Given the description of an element on the screen output the (x, y) to click on. 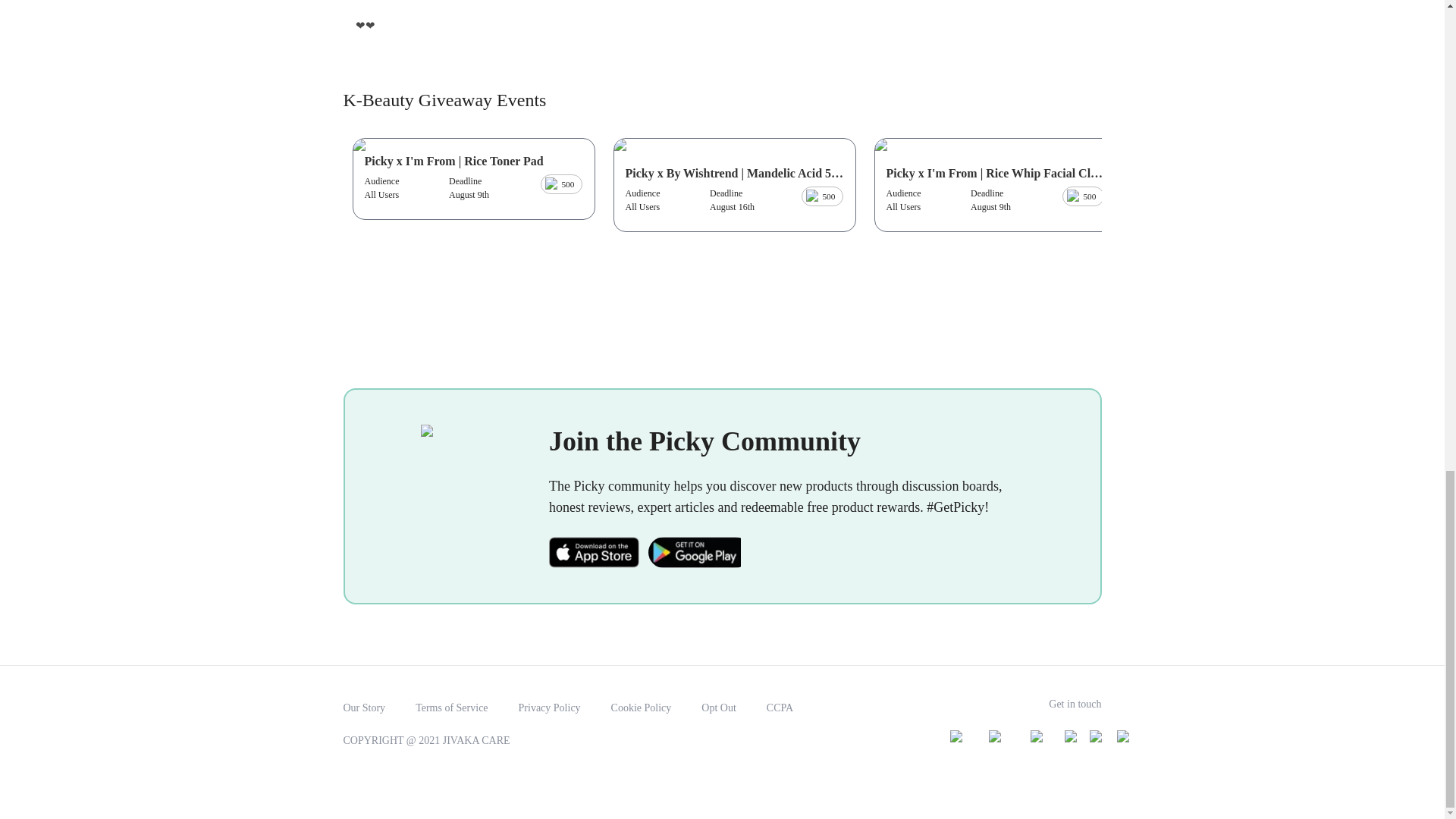
Our Story (363, 707)
CCPA (780, 707)
Privacy Policy (549, 707)
Cookie Policy (641, 707)
Opt Out (718, 707)
Terms of Service (450, 707)
